Given the description of an element on the screen output the (x, y) to click on. 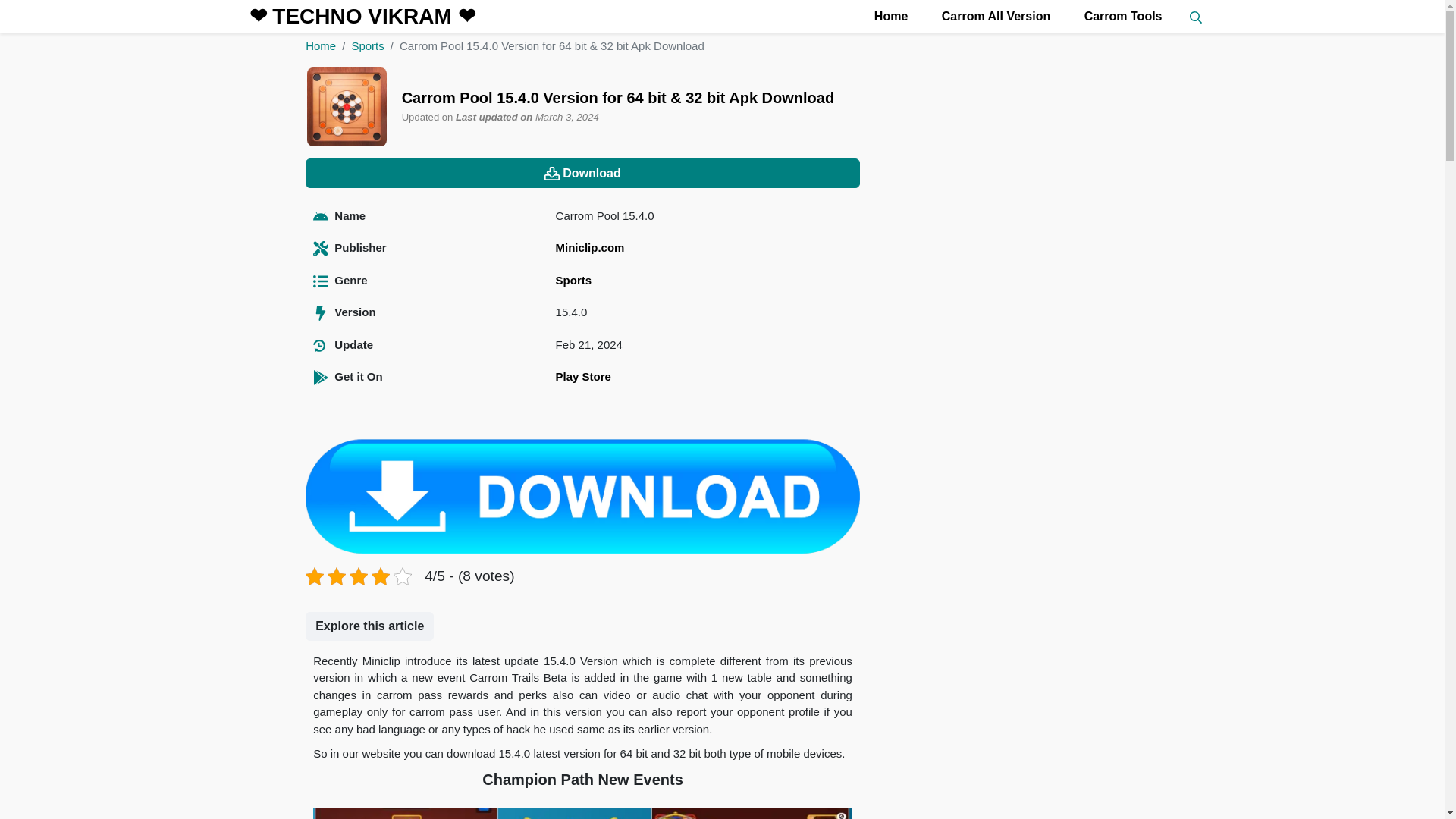
Sports (367, 45)
 Carrom Tools (1120, 16)
Home (320, 45)
Sports (574, 279)
Download (582, 173)
Play Store (583, 376)
 Carrom All Version (994, 16)
 Home (889, 16)
Miniclip.com (590, 246)
Explore this article (369, 625)
Developer by Miniclip.com (590, 246)
